Given the description of an element on the screen output the (x, y) to click on. 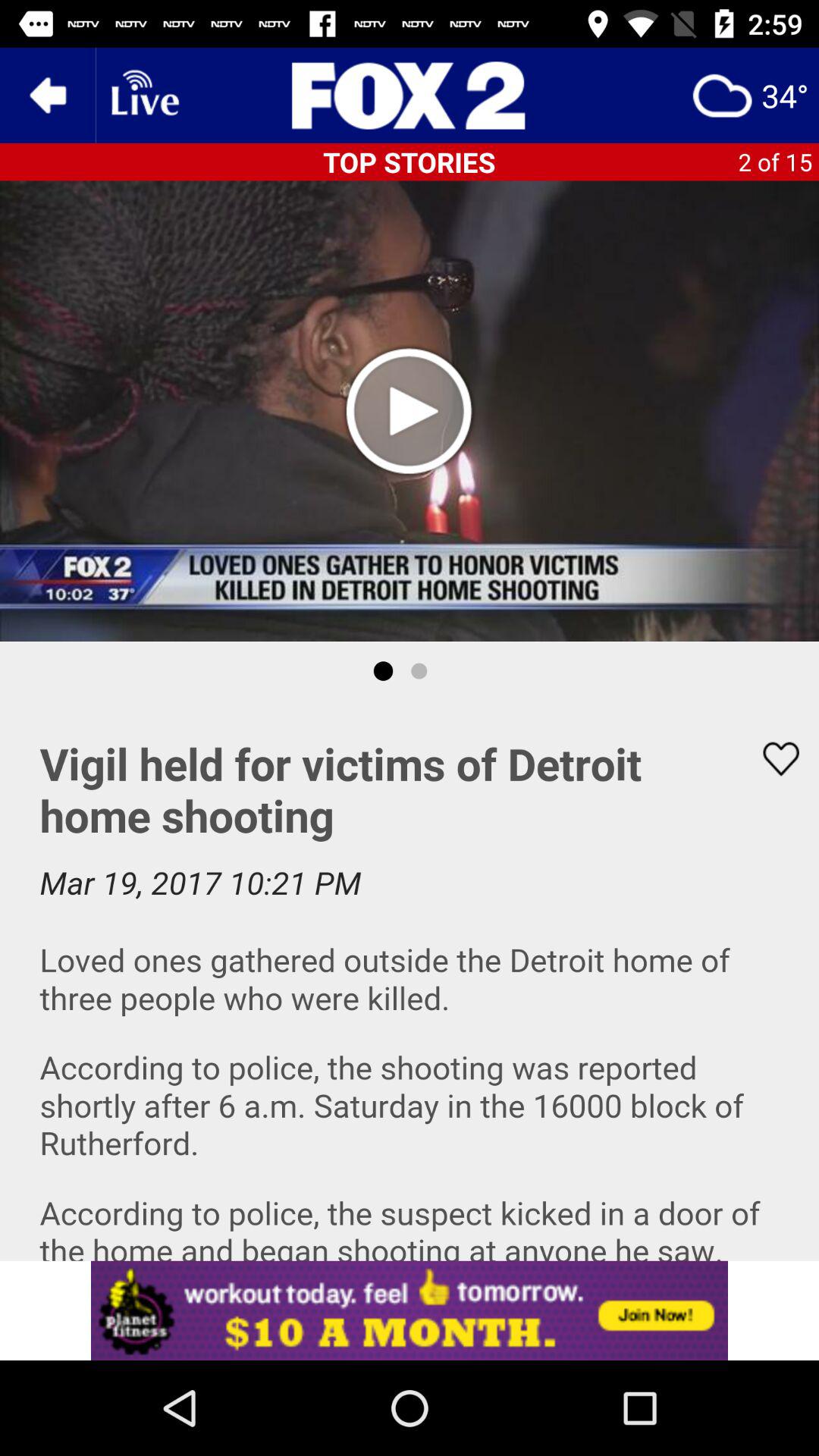
home page link (409, 95)
